Given the description of an element on the screen output the (x, y) to click on. 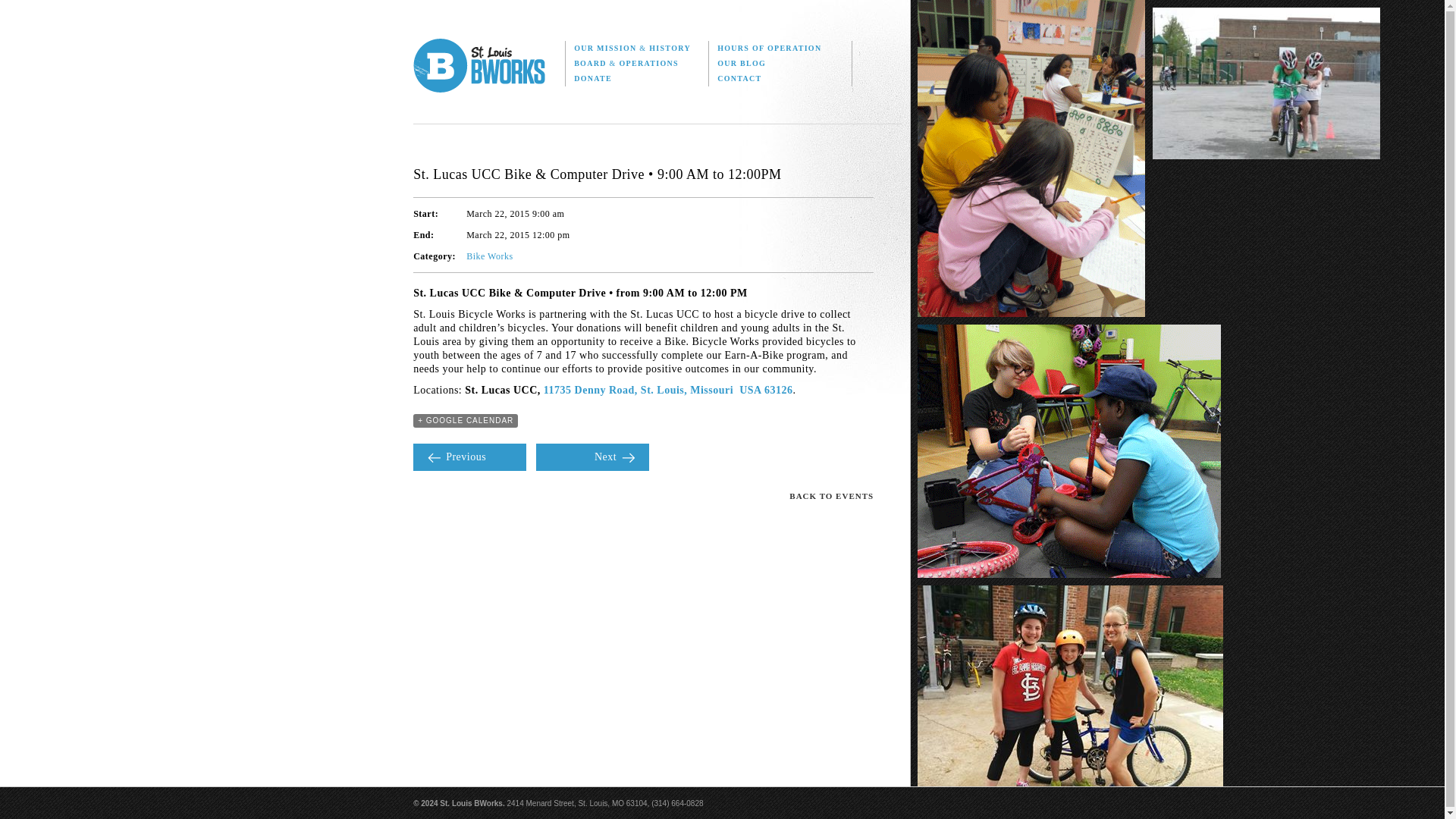
Add to Google Calendar (465, 420)
Next (592, 456)
HOURS OF OPERATION (780, 48)
OUR BLOG (780, 63)
CONTACT (780, 78)
BACK TO EVENTS (828, 495)
Bike Works (488, 255)
11735 Denny Road, St. Louis, Missouri  USA 63126 (668, 389)
DONATE (636, 78)
Previous (469, 456)
